Given the description of an element on the screen output the (x, y) to click on. 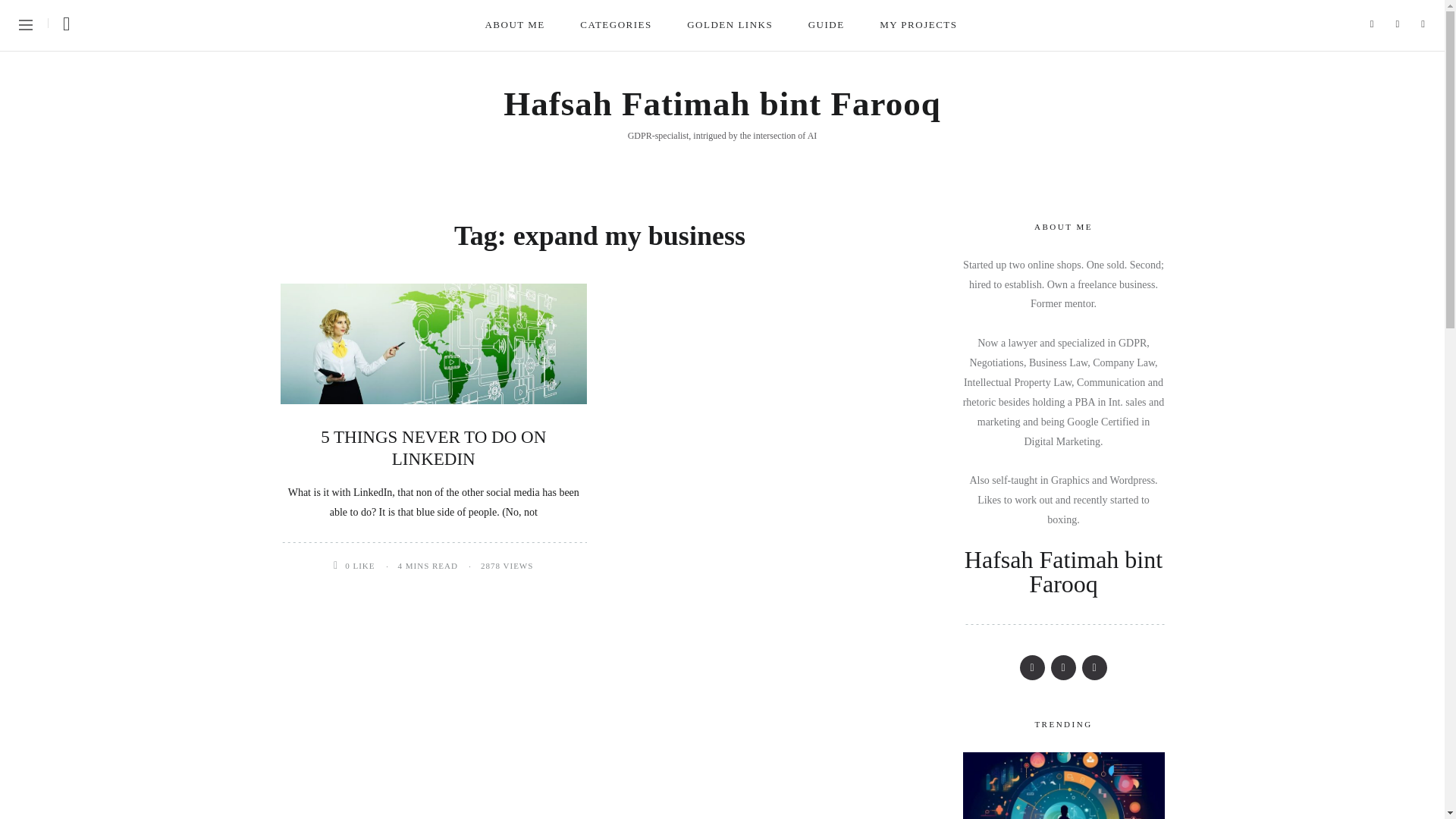
Hafsah Fatimah bint Farooq (721, 103)
MY PROJECTS (919, 25)
GOLDEN LINKS (730, 25)
Permalink to 5 THINGS NEVER TO DO ON LINKEDIN (433, 448)
CATEGORIES (616, 25)
I like this (339, 564)
Instagram (1063, 667)
LinkedIn (1093, 667)
GUIDE (827, 25)
ABOUT ME (515, 25)
